Given the description of an element on the screen output the (x, y) to click on. 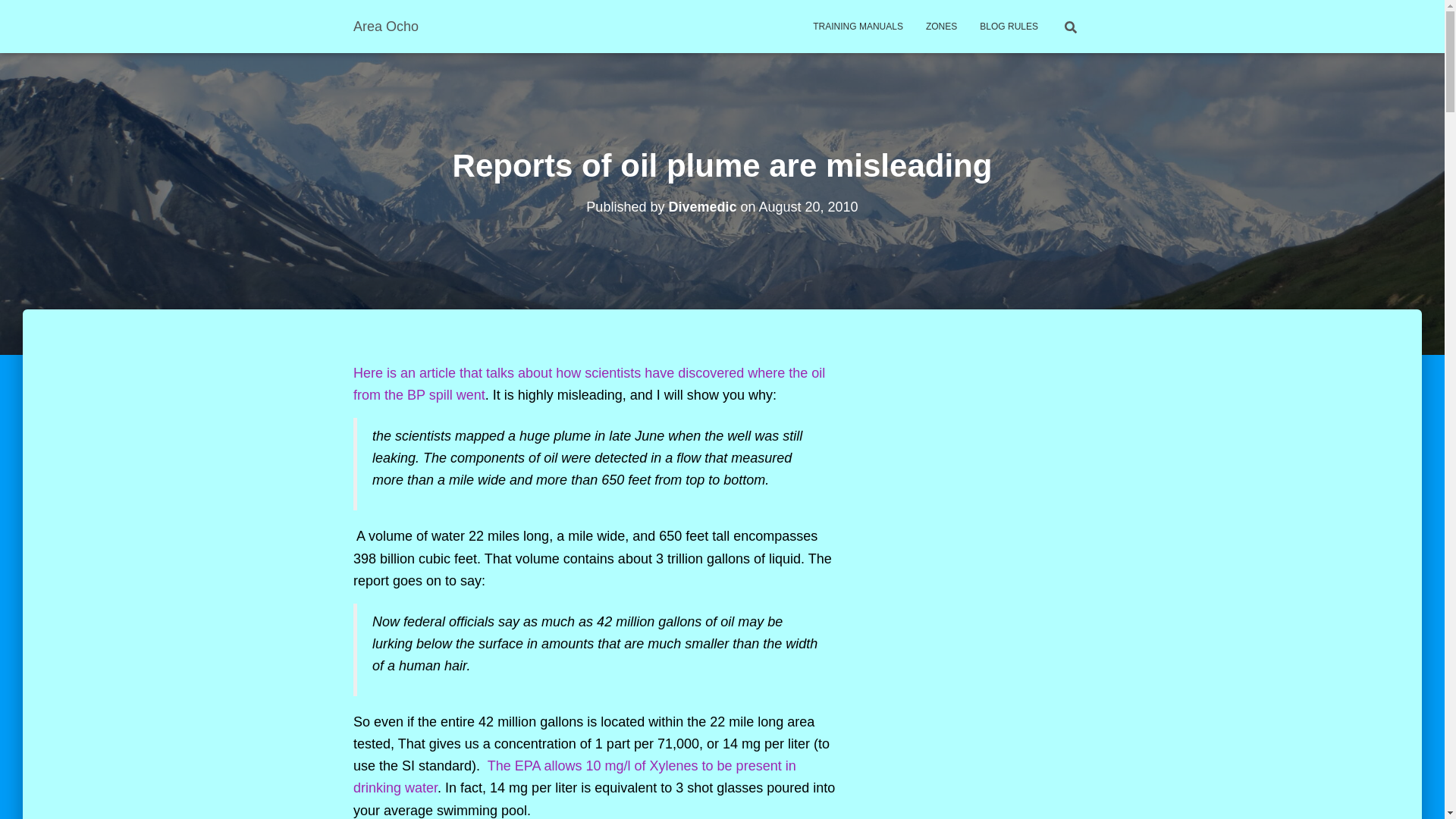
TRAINING MANUALS (858, 26)
Zones (941, 26)
ZONES (941, 26)
Area Ocho (385, 26)
Area Ocho (385, 26)
BLOG RULES (1008, 26)
Blog Rules (1008, 26)
Training Manuals (858, 26)
Divemedic (702, 206)
